Given the description of an element on the screen output the (x, y) to click on. 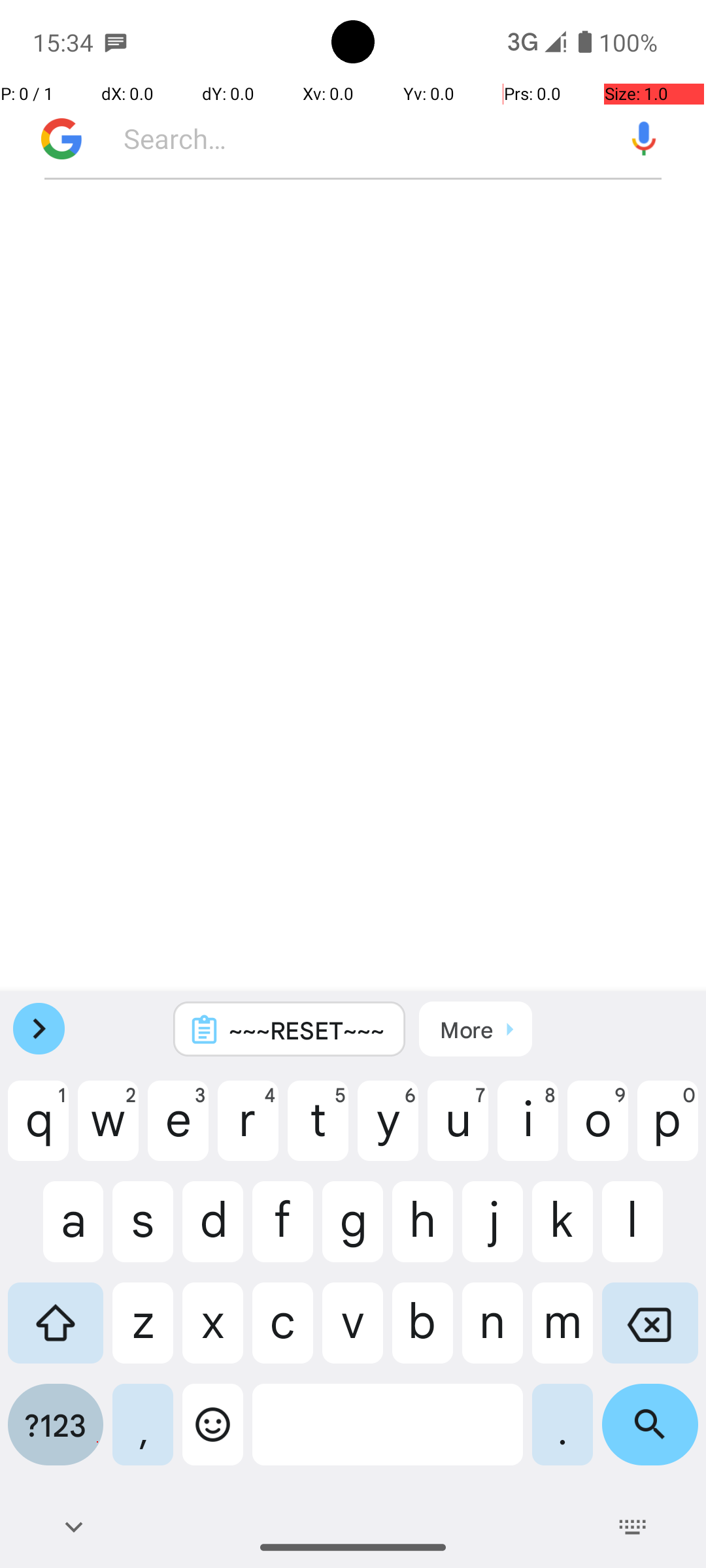
Go to Discover Element type: android.widget.FrameLayout (54, 138)
Voice Search Element type: android.widget.ImageView (643, 138)
~~~RESET~~~ Element type: android.widget.TextView (306, 1029)
